Given the description of an element on the screen output the (x, y) to click on. 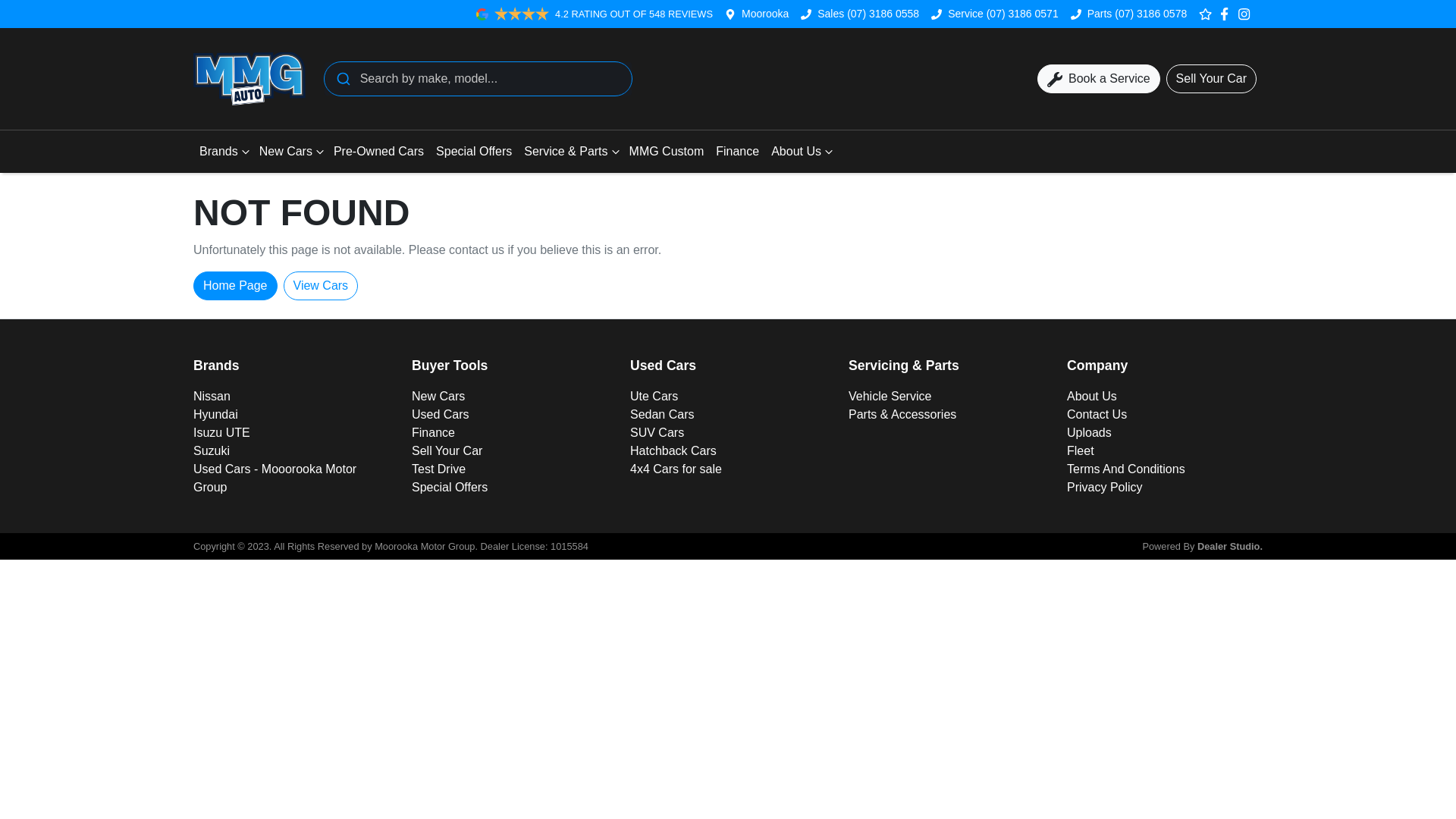
New Cars Element type: text (290, 151)
Uploads Element type: text (1088, 432)
Suzuki Element type: text (211, 450)
Hyundai Element type: text (215, 413)
Ute Cars Element type: text (653, 395)
Finance Element type: text (737, 151)
Pre-Owned Cars Element type: text (378, 151)
Contact Us Element type: text (1096, 413)
Finance Element type: text (433, 432)
About Us Element type: text (1091, 395)
Special Offers Element type: text (473, 151)
Sell Your Car Element type: text (446, 450)
Home Page Element type: text (235, 285)
Dealer Studio. Element type: text (1229, 546)
4x4 Cars for sale Element type: text (675, 468)
Test Drive Element type: text (438, 468)
Used Cars Element type: text (440, 413)
Submit Element type: hover (342, 78)
Sales (07) 3186 0558 Element type: text (868, 13)
Fleet Element type: text (1080, 450)
Service & Parts Element type: text (569, 151)
Sedan Cars Element type: text (662, 413)
Book a Service Element type: text (1098, 78)
Service (07) 3186 0571 Element type: text (1002, 13)
Sell Your Car Element type: text (1211, 78)
New Cars Element type: text (437, 395)
Parts & Accessories Element type: text (902, 413)
Special Offers Element type: text (449, 486)
Hatchback Cars Element type: text (673, 450)
Nissan Element type: text (211, 395)
Isuzu UTE Element type: text (221, 432)
About Us Element type: text (800, 151)
View Cars Element type: text (320, 285)
Privacy Policy Element type: text (1104, 486)
Used Cars - Mooorooka Motor Group Element type: text (274, 477)
Terms And Conditions Element type: text (1125, 468)
Vehicle Service Element type: text (889, 395)
Moorooka Element type: text (764, 13)
SUV Cars Element type: text (657, 432)
MMG Custom Element type: text (666, 151)
Brands Element type: text (223, 151)
Parts (07) 3186 0578 Element type: text (1137, 13)
